Given the description of an element on the screen output the (x, y) to click on. 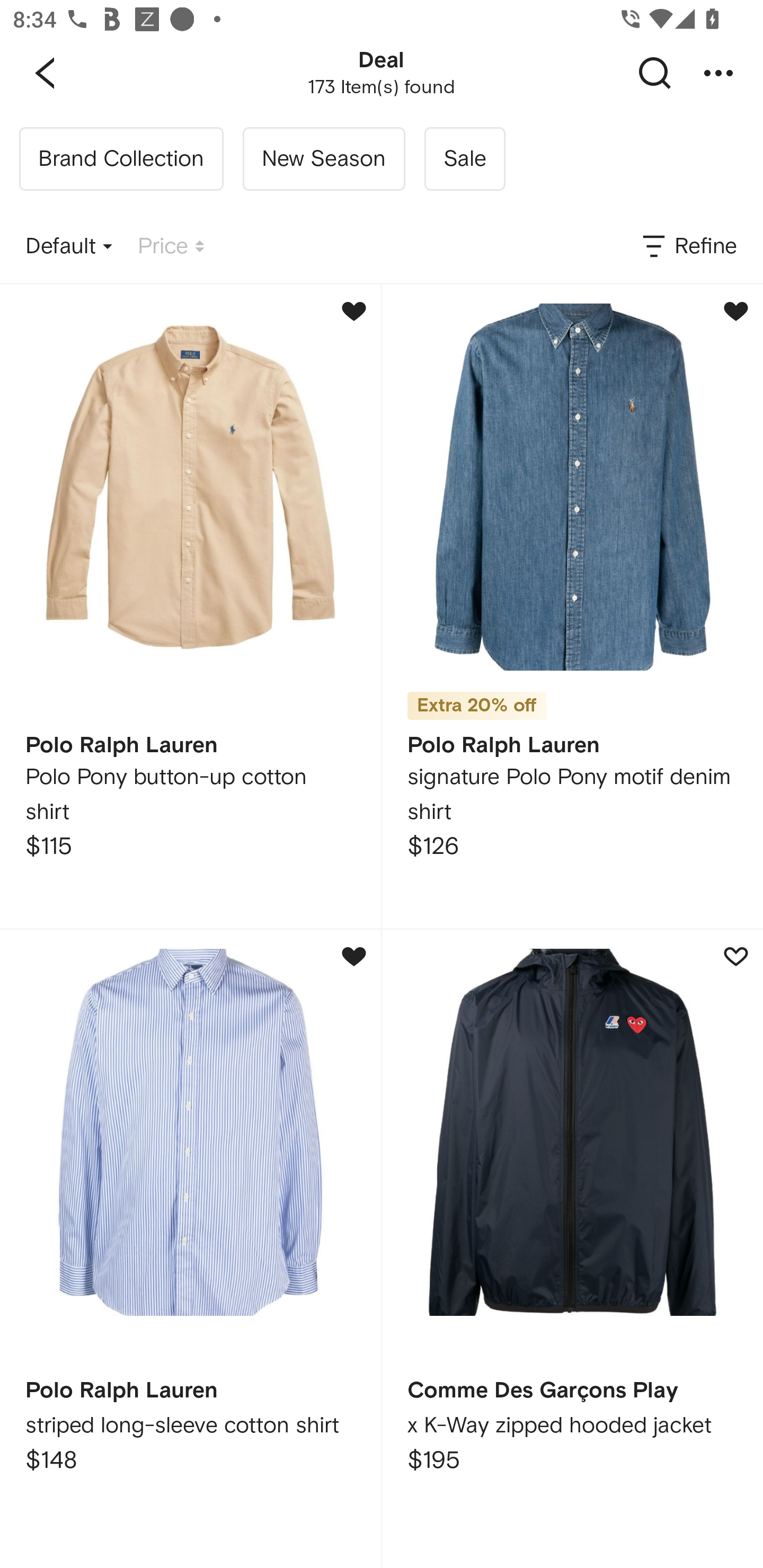
Brand Collection (121, 158)
New Season (323, 158)
Sale (464, 158)
Default (68, 246)
Price (171, 246)
Refine (688, 246)
Extra 20% off (477, 698)
